Given the description of an element on the screen output the (x, y) to click on. 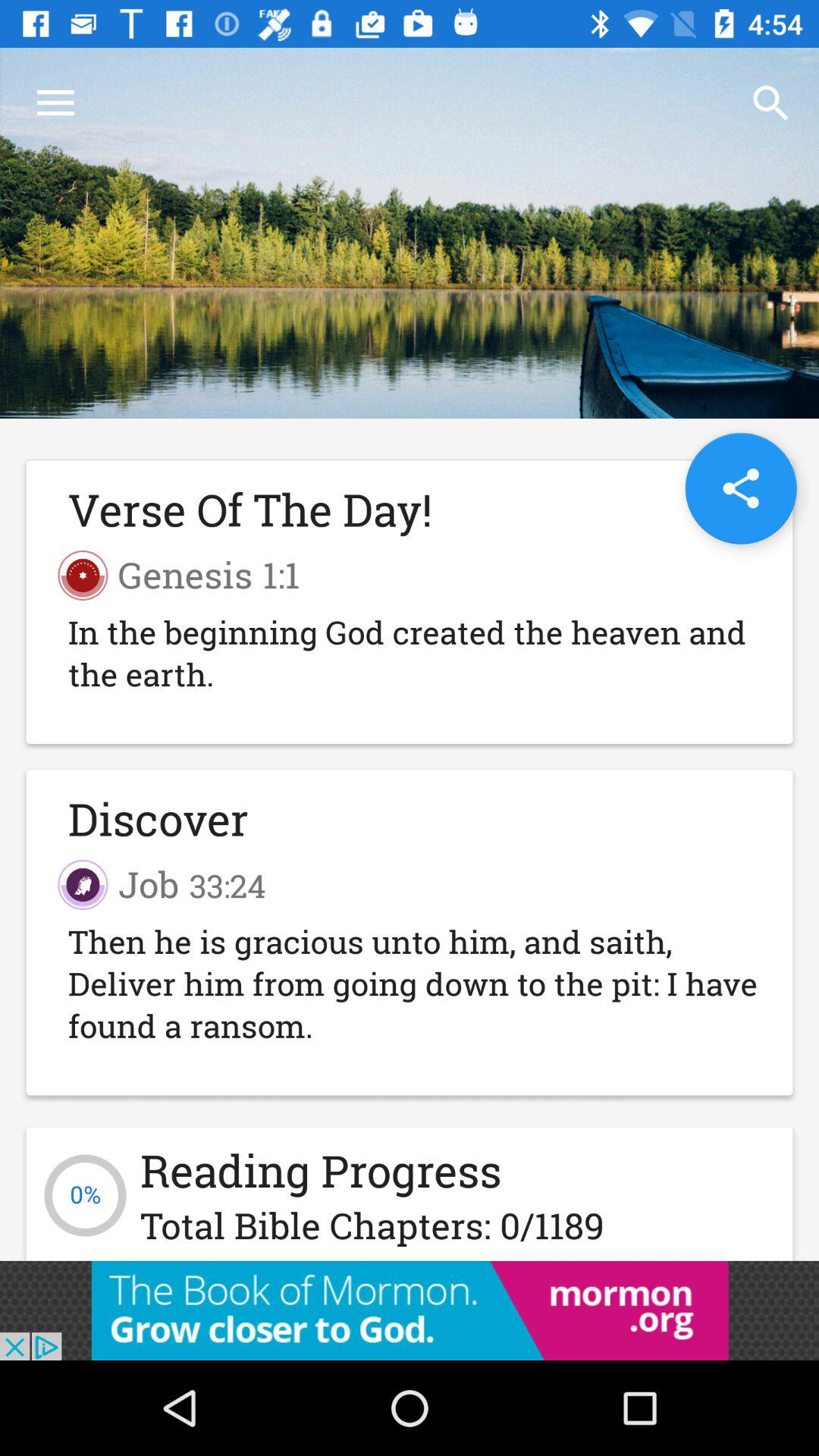
share this (740, 488)
